Given the description of an element on the screen output the (x, y) to click on. 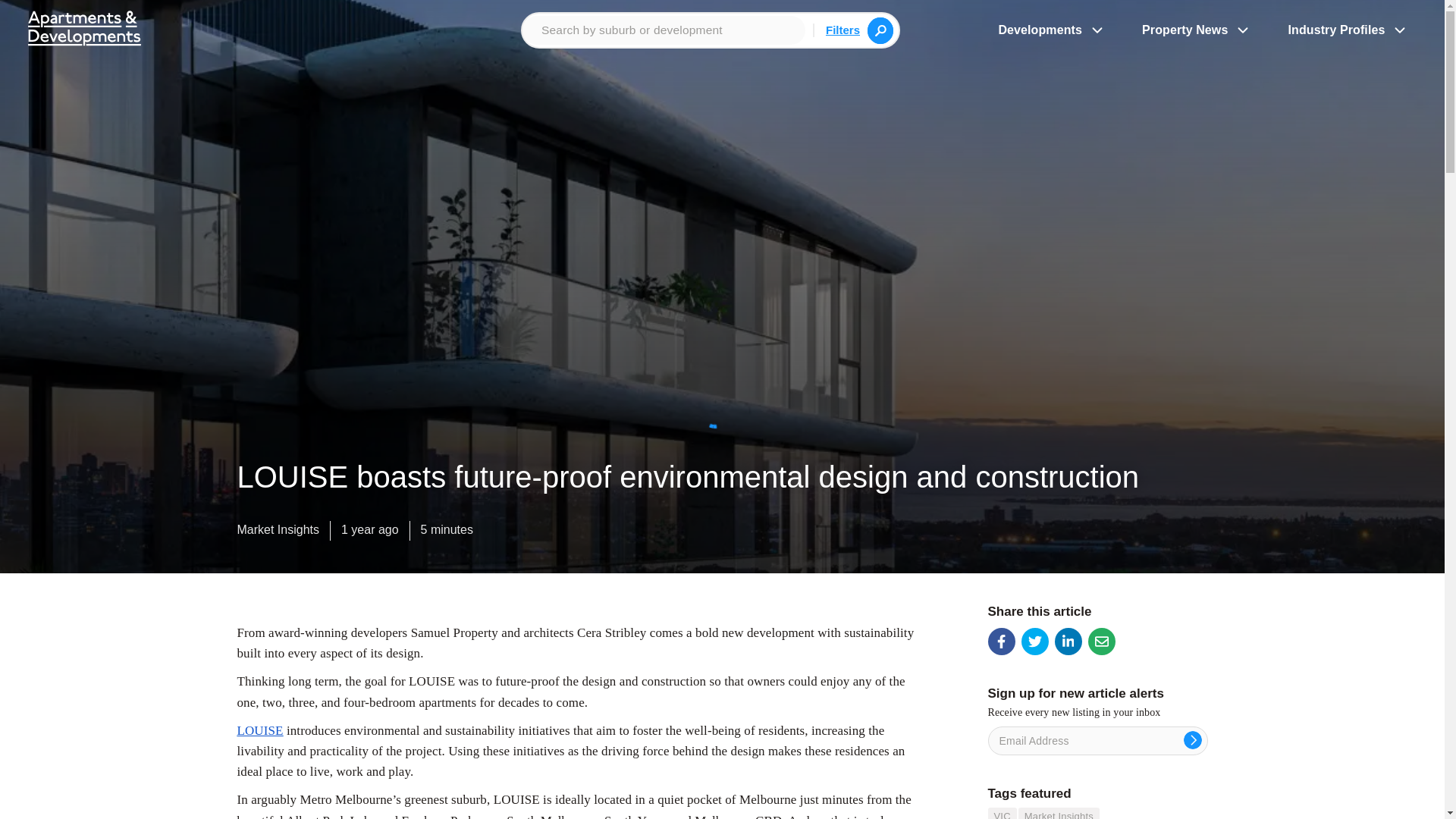
VIC (1001, 813)
LOUISE (258, 730)
Market Insights (1058, 813)
Filters (842, 29)
Market Insights (276, 532)
